Given the description of an element on the screen output the (x, y) to click on. 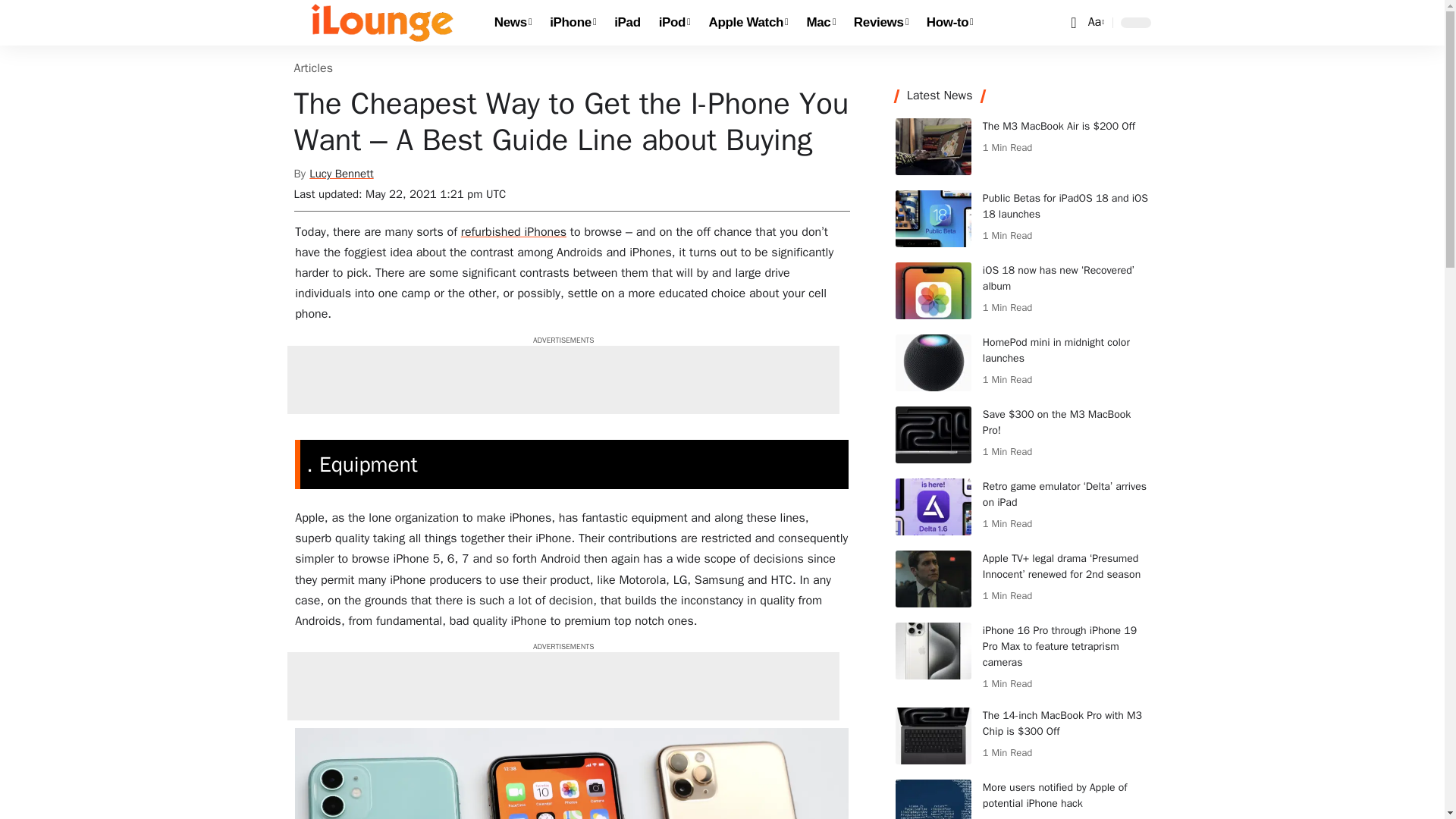
Public Betas for iPadOS 18 and iOS 18 launches (933, 218)
More users notified by Apple of potential iPhone hack (933, 799)
How-to (949, 22)
News (512, 22)
Apple Watch (748, 22)
iLounge (382, 22)
Reviews (880, 22)
HomePod mini in midnight color launches (1094, 22)
iPod (933, 362)
iPad (674, 22)
Advertisement (627, 22)
Advertisement (563, 379)
Mac (563, 685)
iPhone (820, 22)
